Given the description of an element on the screen output the (x, y) to click on. 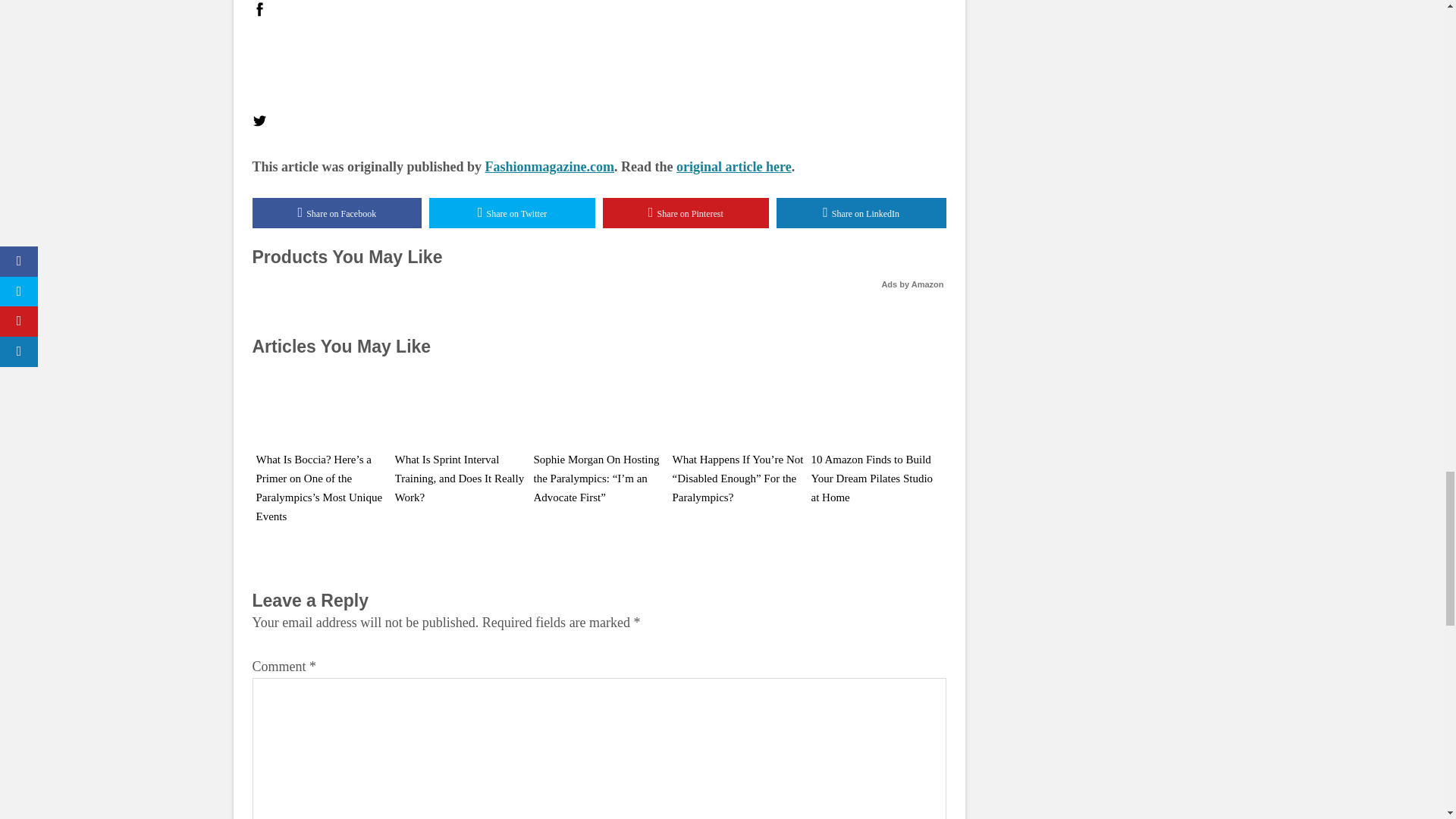
Facebook (258, 9)
Twitter (258, 120)
